Given the description of an element on the screen output the (x, y) to click on. 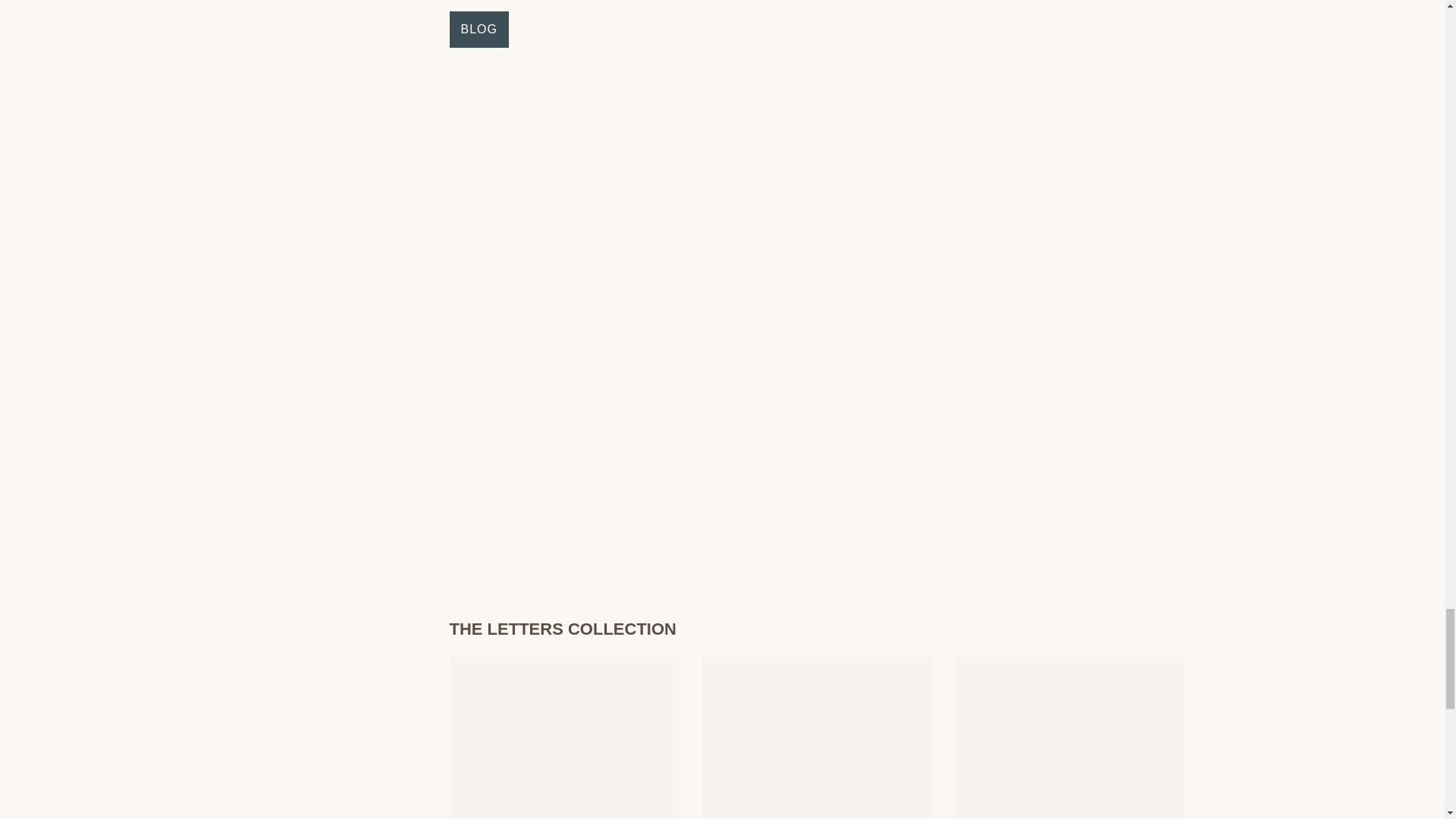
BLOG (478, 29)
